Given the description of an element on the screen output the (x, y) to click on. 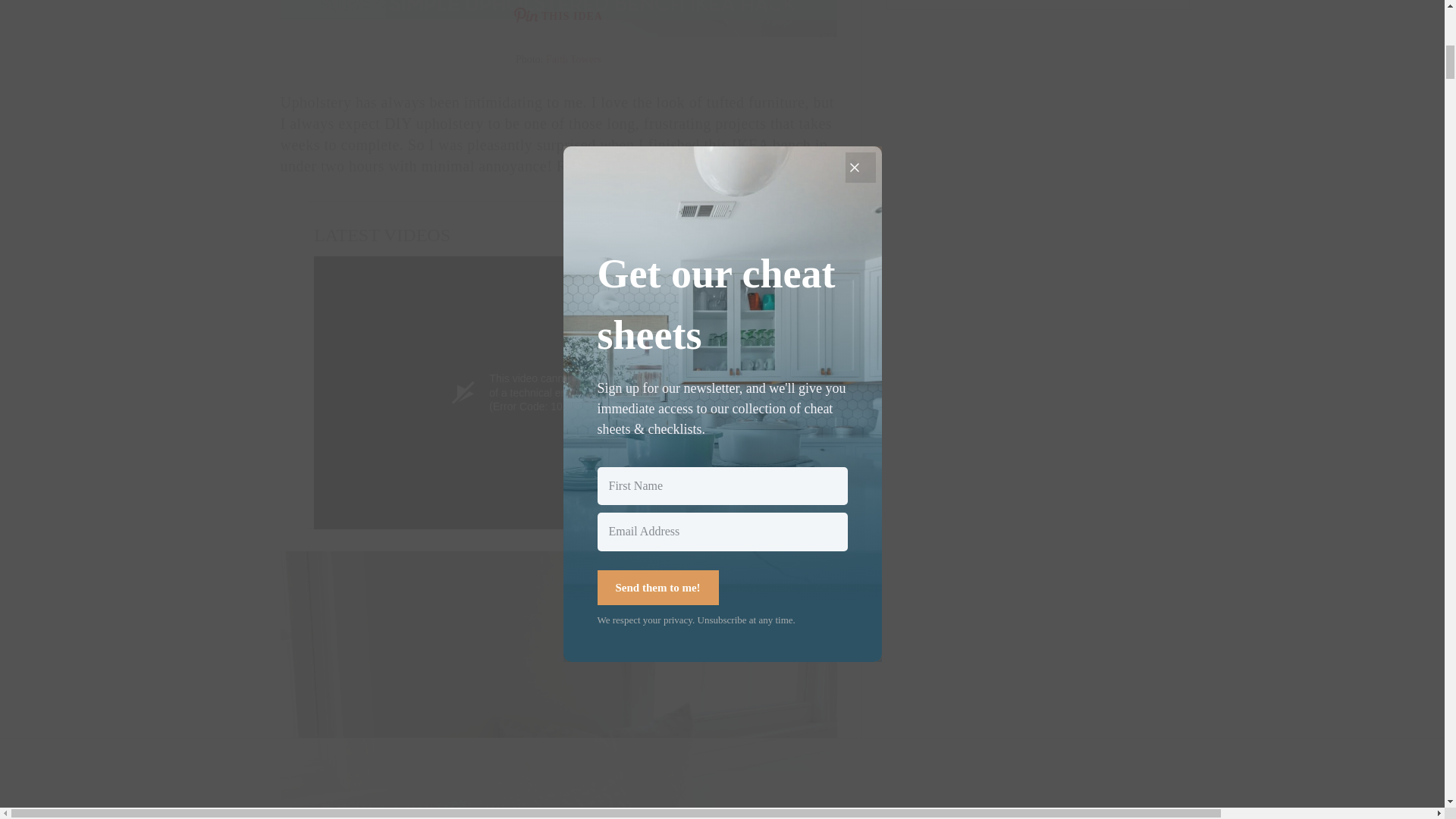
Faith Towers (573, 59)
THIS IDEA (559, 18)
